Given the description of an element on the screen output the (x, y) to click on. 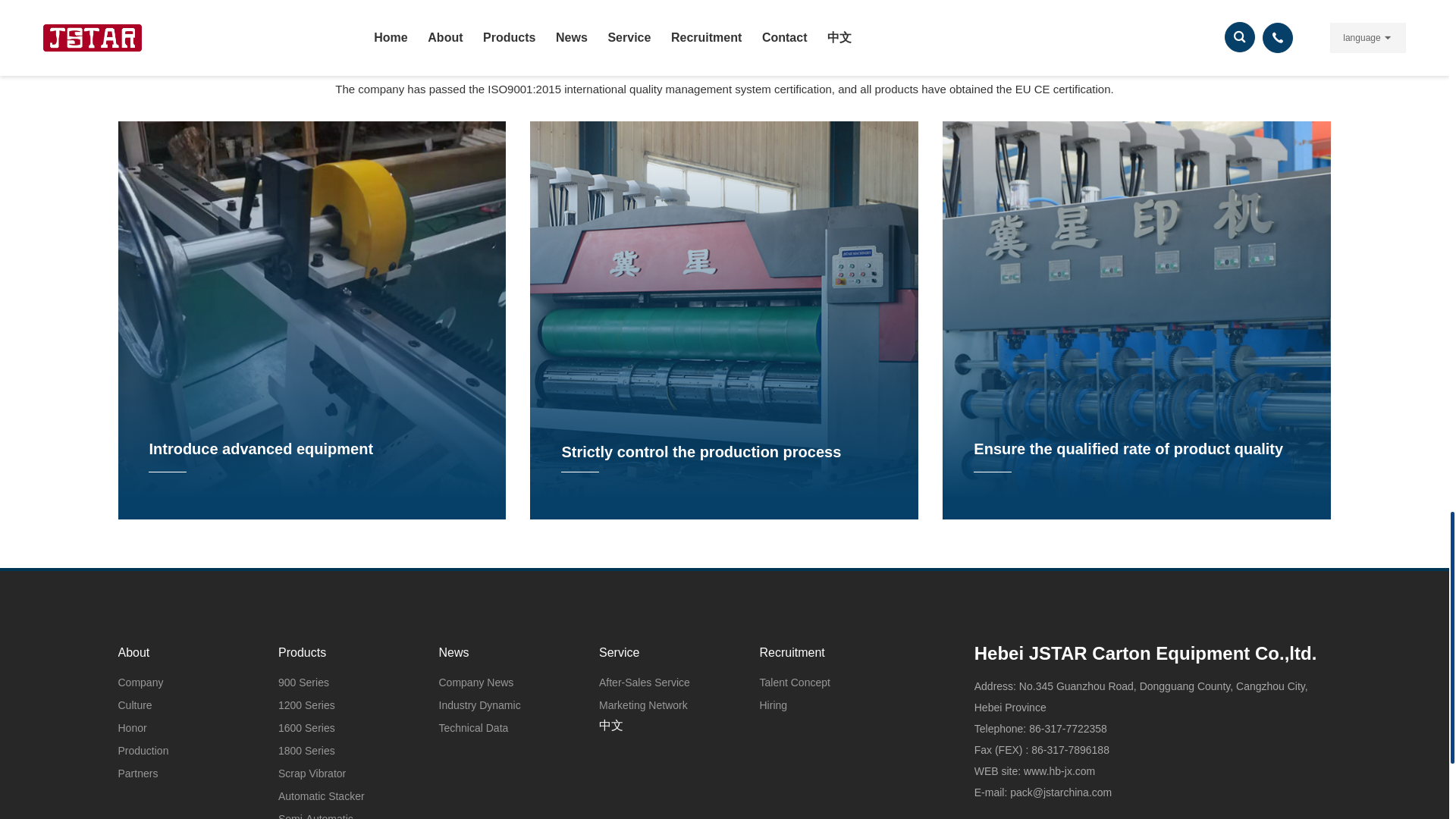
About (176, 652)
